Given the description of an element on the screen output the (x, y) to click on. 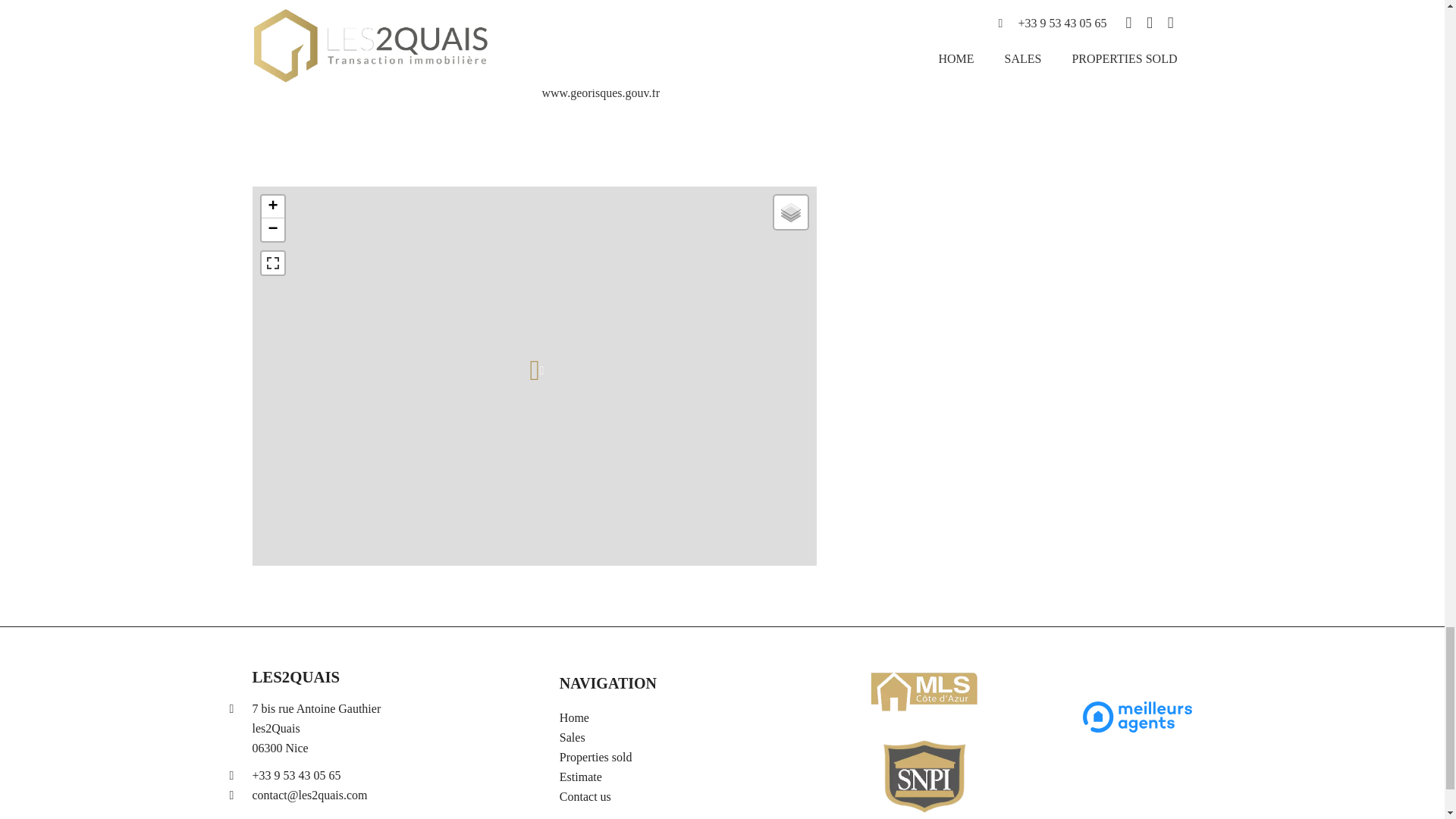
Zoom in (271, 206)
View Fullscreen (271, 262)
Zoom out (271, 229)
